Given the description of an element on the screen output the (x, y) to click on. 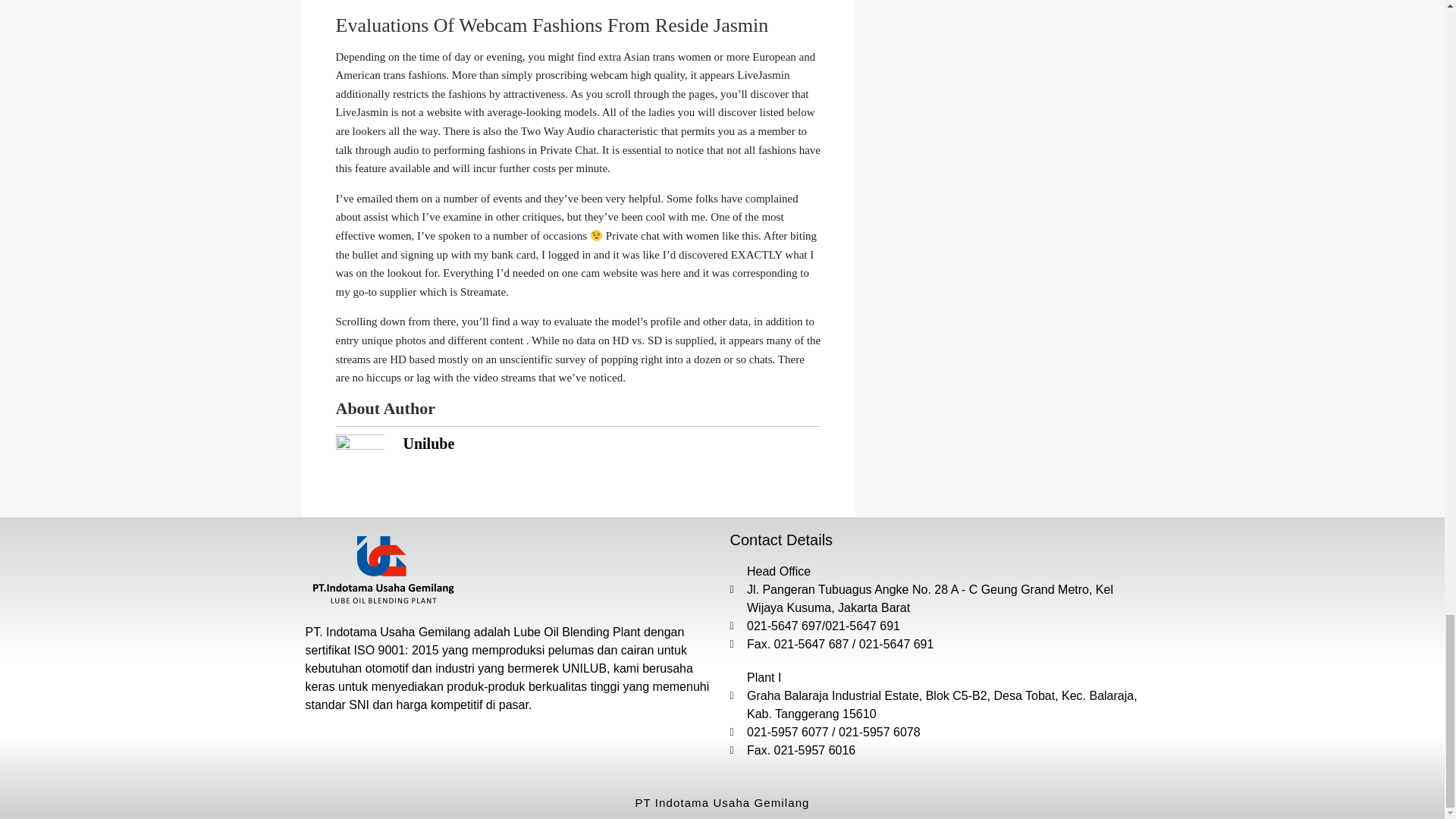
Logo IUG-ok (380, 570)
